Given the description of an element on the screen output the (x, y) to click on. 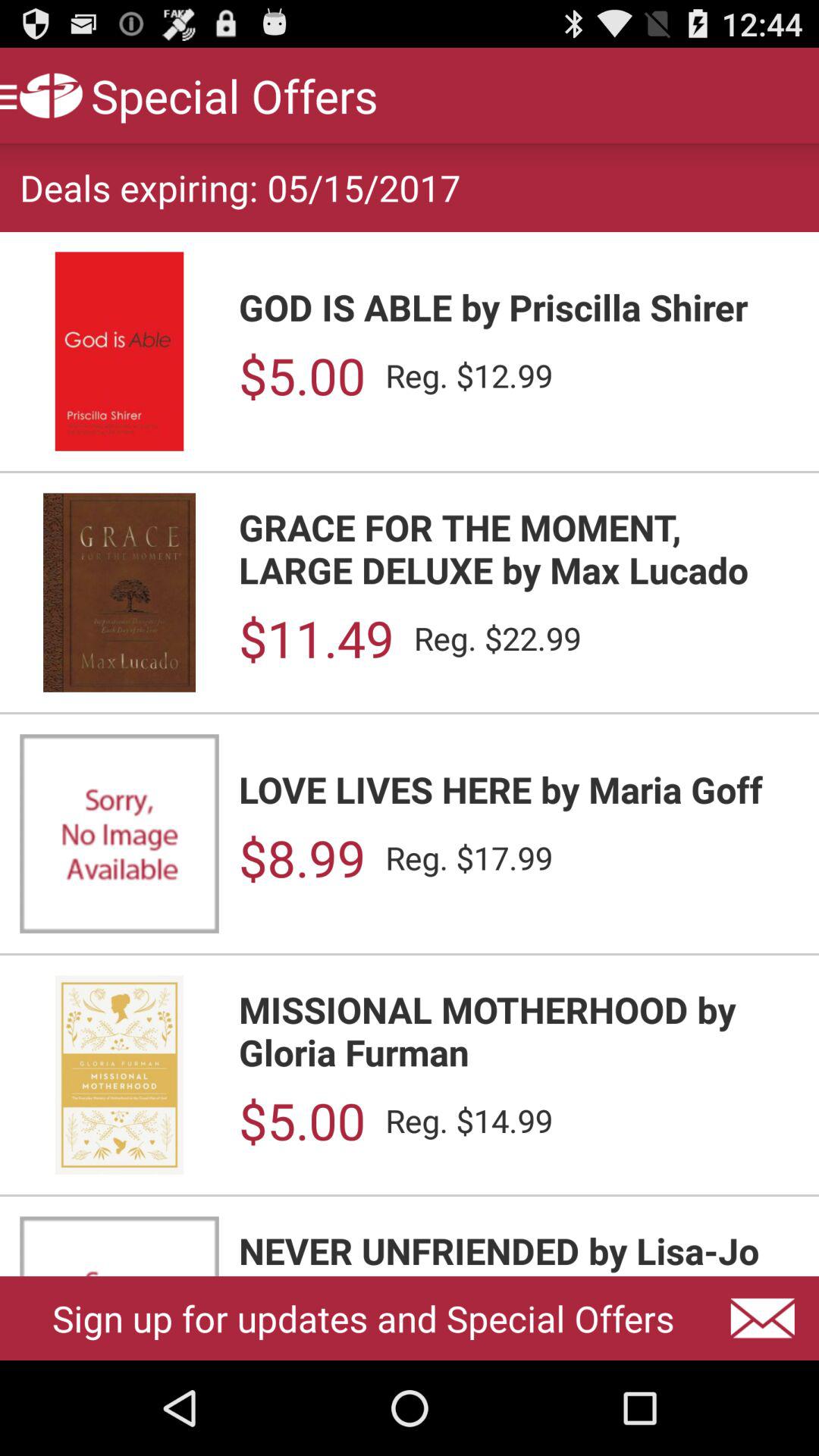
scroll to $11.49 icon (316, 638)
